Given the description of an element on the screen output the (x, y) to click on. 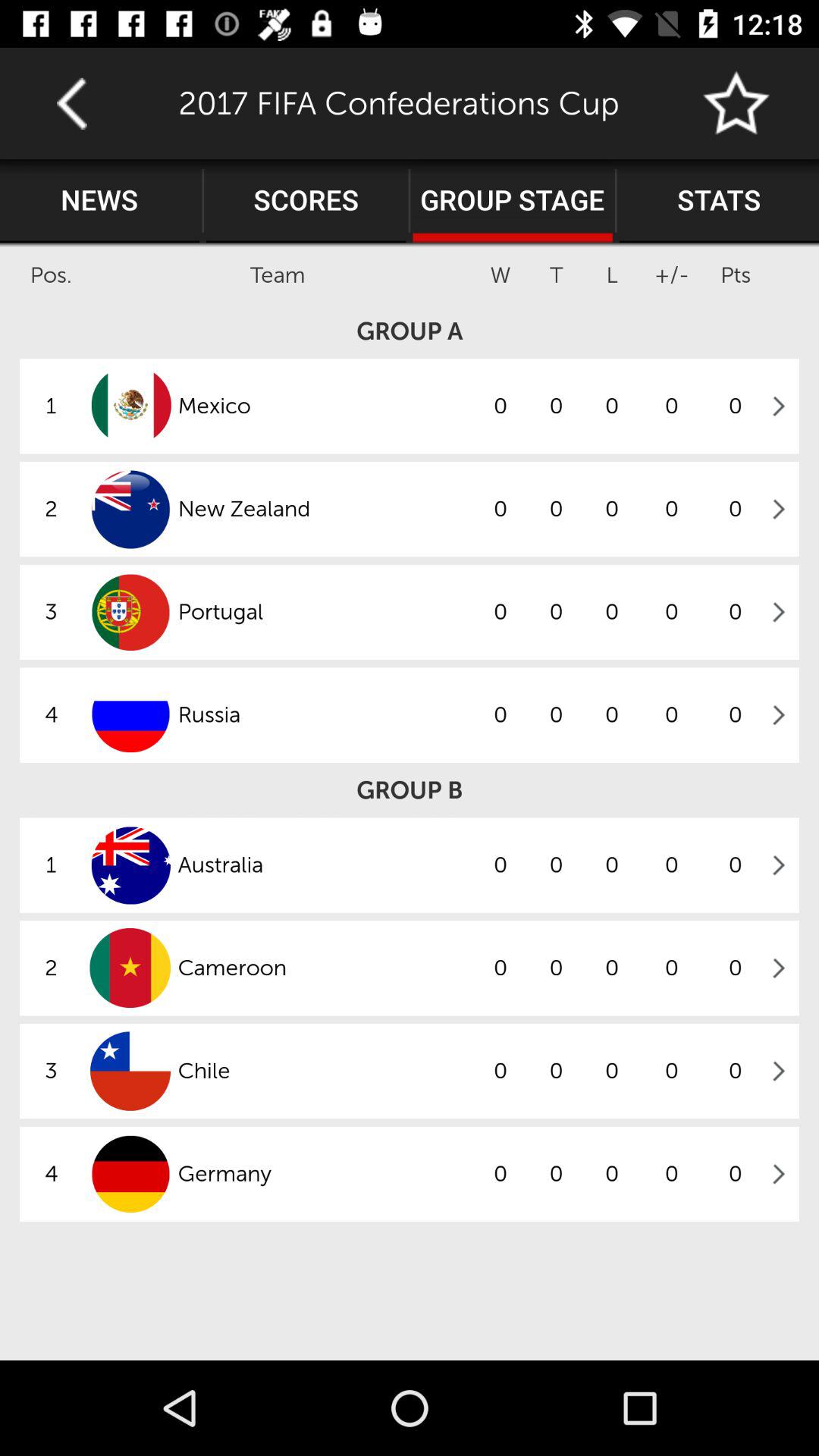
turn on the item to the left of 2017 fifa confederations (71, 103)
